Given the description of an element on the screen output the (x, y) to click on. 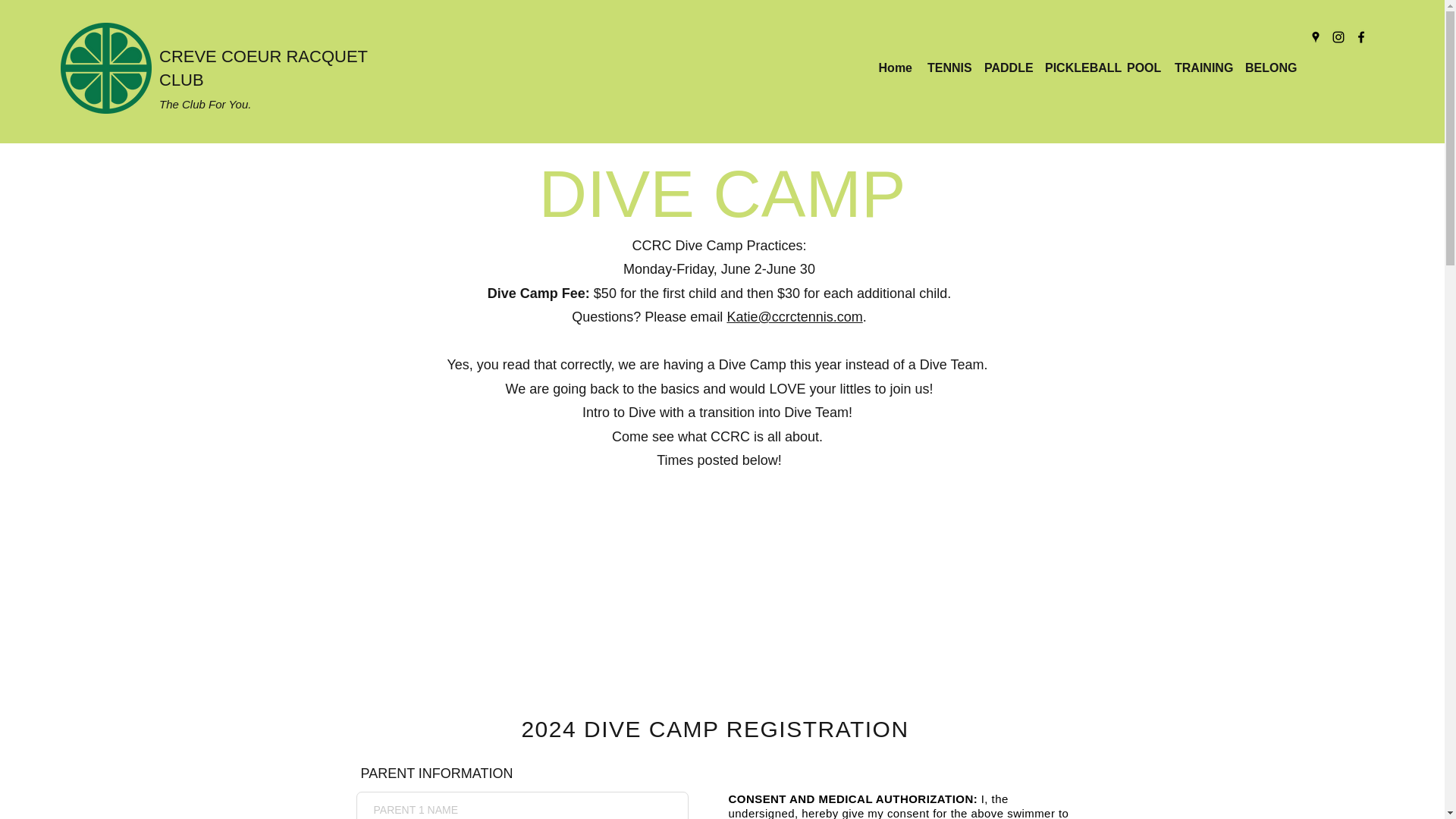
POOL (1143, 67)
PICKLEBALL (1077, 67)
TENNIS (948, 67)
Home (895, 67)
PADDLE (1006, 67)
TRAINING (1202, 67)
BELONG (1269, 67)
